Given the description of an element on the screen output the (x, y) to click on. 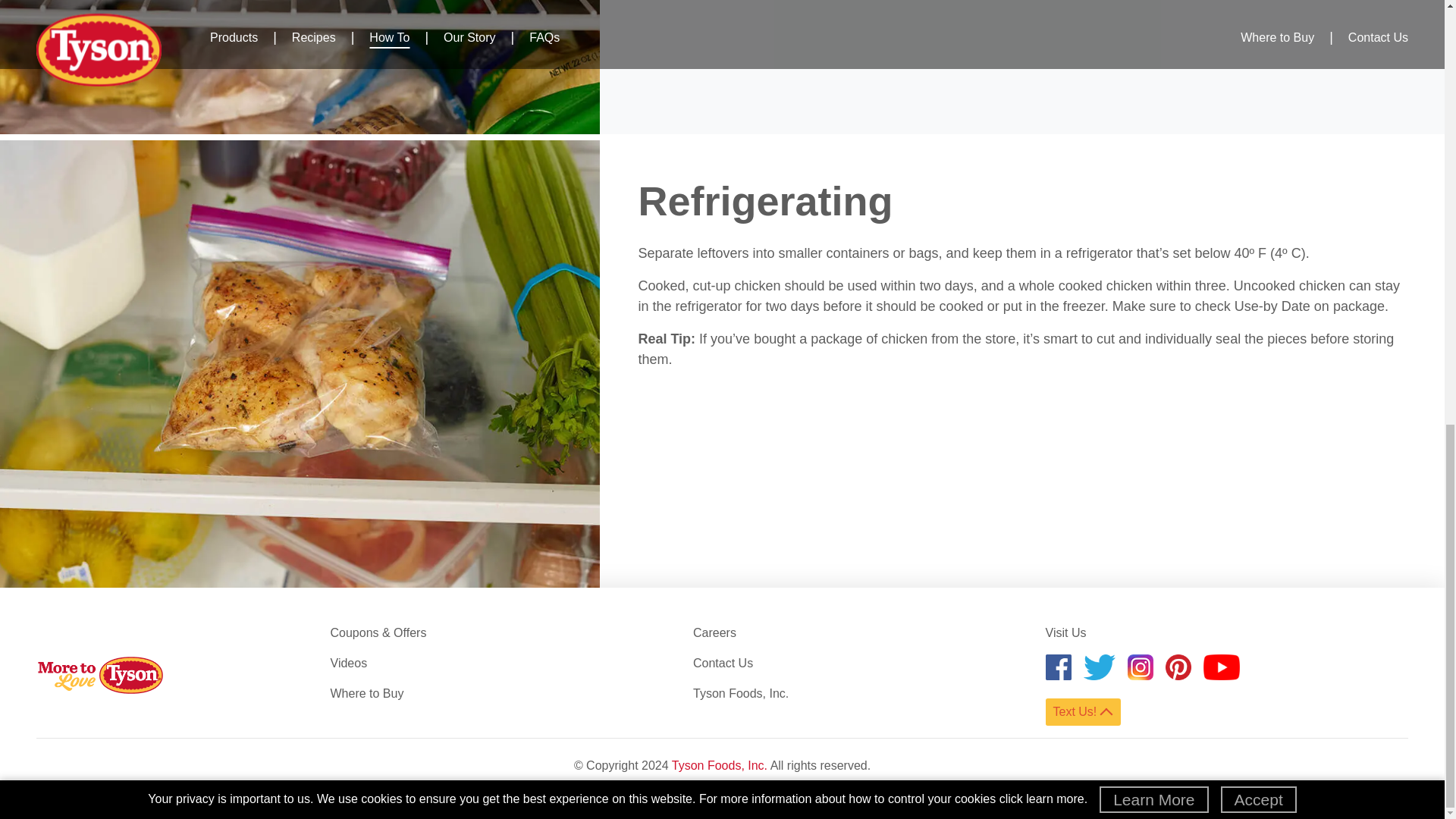
Where to Buy (367, 693)
Contact Us (722, 662)
Text Us! (1082, 711)
YouTube (1222, 667)
Careers (714, 632)
Instagram (1139, 667)
Tyson Foods, Inc. (741, 693)
Do Not Sell My Personal Information (827, 793)
Facebook (1057, 667)
Terms of Use (706, 793)
